Given the description of an element on the screen output the (x, y) to click on. 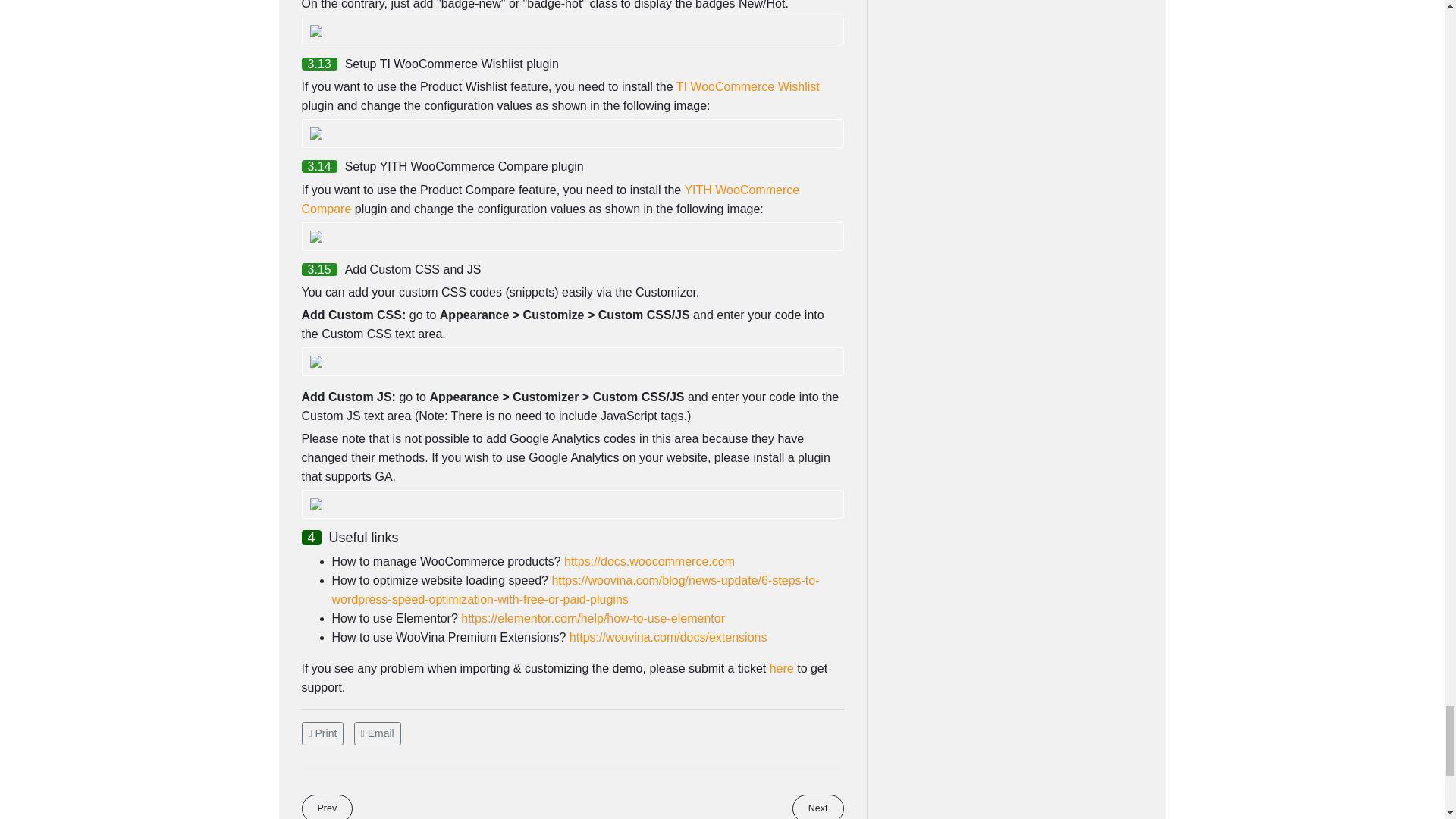
Email this link to a friend (377, 732)
